Given the description of an element on the screen output the (x, y) to click on. 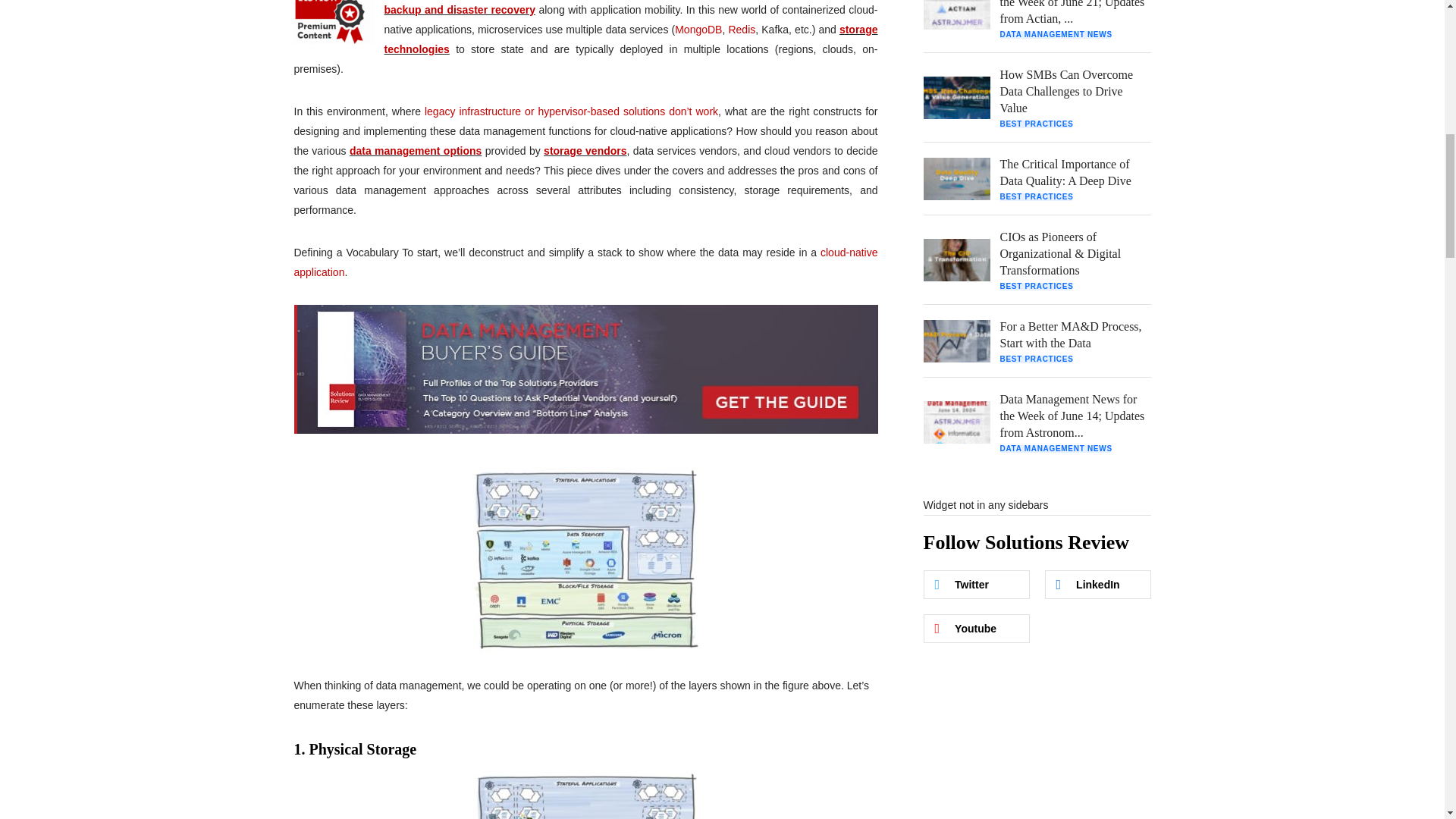
cloud-native application (585, 262)
Download link to Data Management Buyers Guide (585, 374)
backup and disaster recovery (459, 9)
MongoDB (698, 29)
storage technologies (630, 39)
data management options (415, 150)
storage vendors (584, 150)
Redis (741, 29)
